Given the description of an element on the screen output the (x, y) to click on. 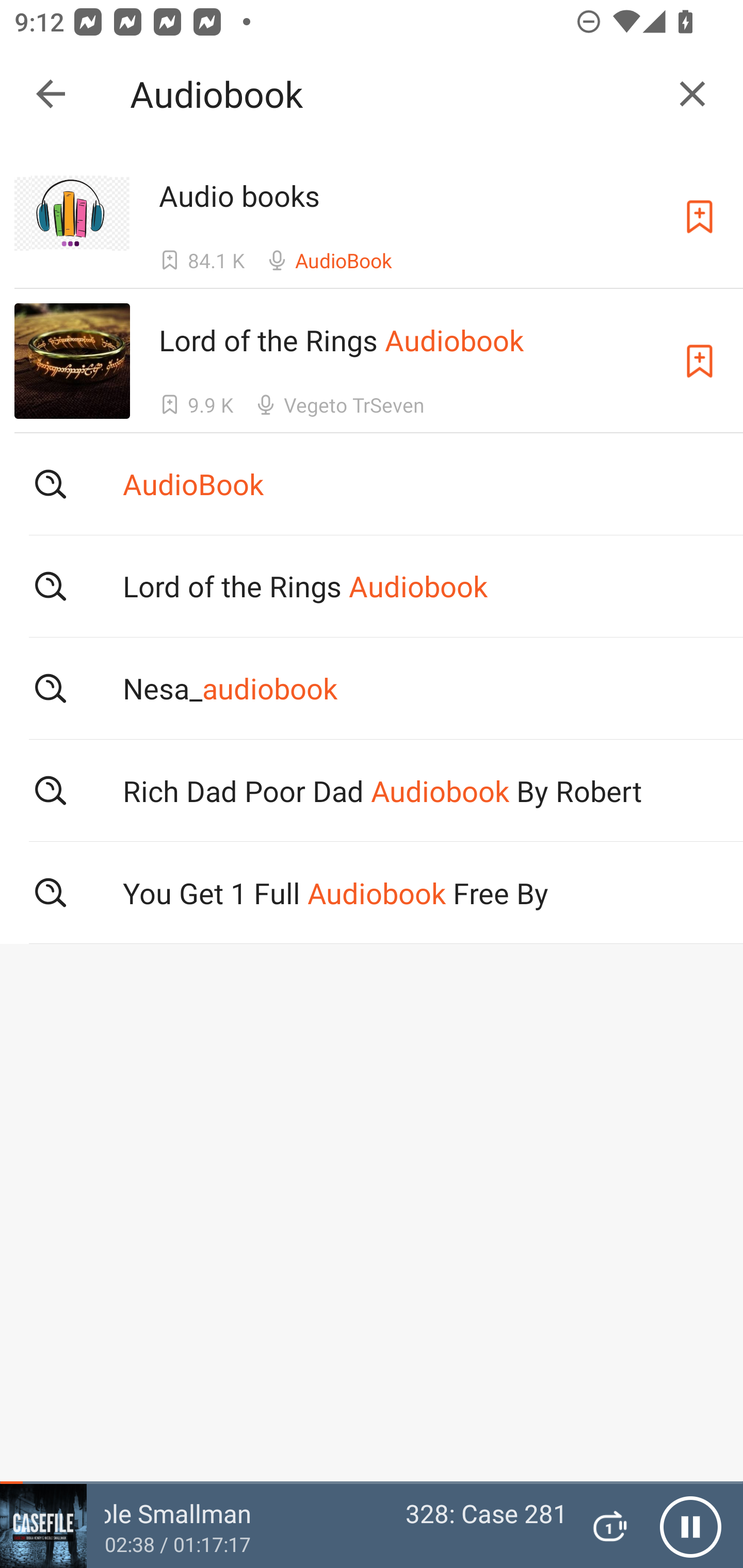
Collapse (50, 93)
Clear query (692, 93)
Audiobook (393, 94)
Subscribe (699, 216)
Subscribe (699, 360)
 AudioBook (371, 483)
 Lord of the Rings Audiobook (371, 585)
 Nesa_audiobook (371, 688)
 Rich Dad Poor Dad Audiobook By Robert Kiyosaki (371, 791)
Pause (690, 1526)
